Given the description of an element on the screen output the (x, y) to click on. 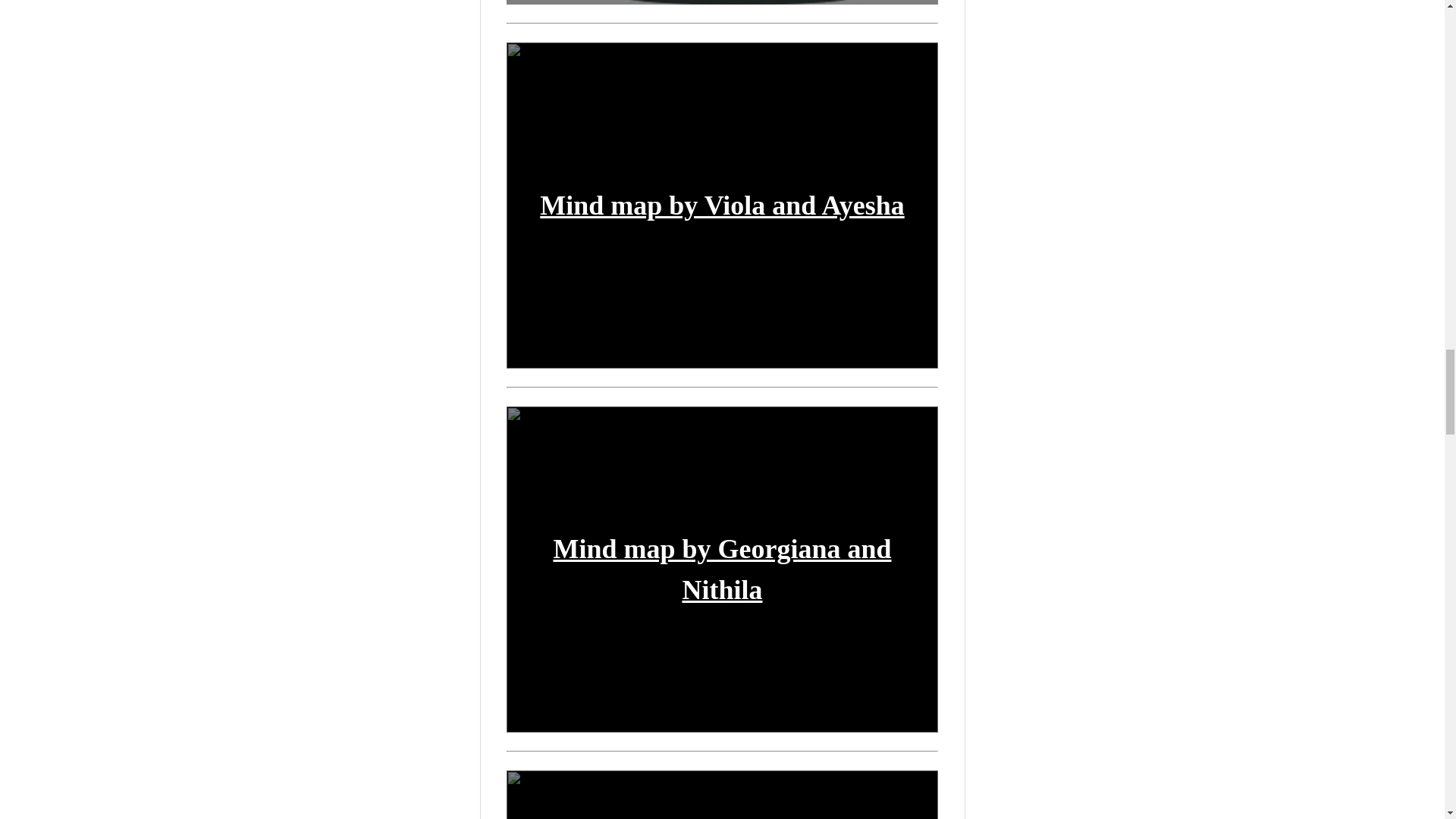
Mind map by Viola and Ayesha (722, 205)
Mind map by Georgiana and Nithila (722, 569)
